Given the description of an element on the screen output the (x, y) to click on. 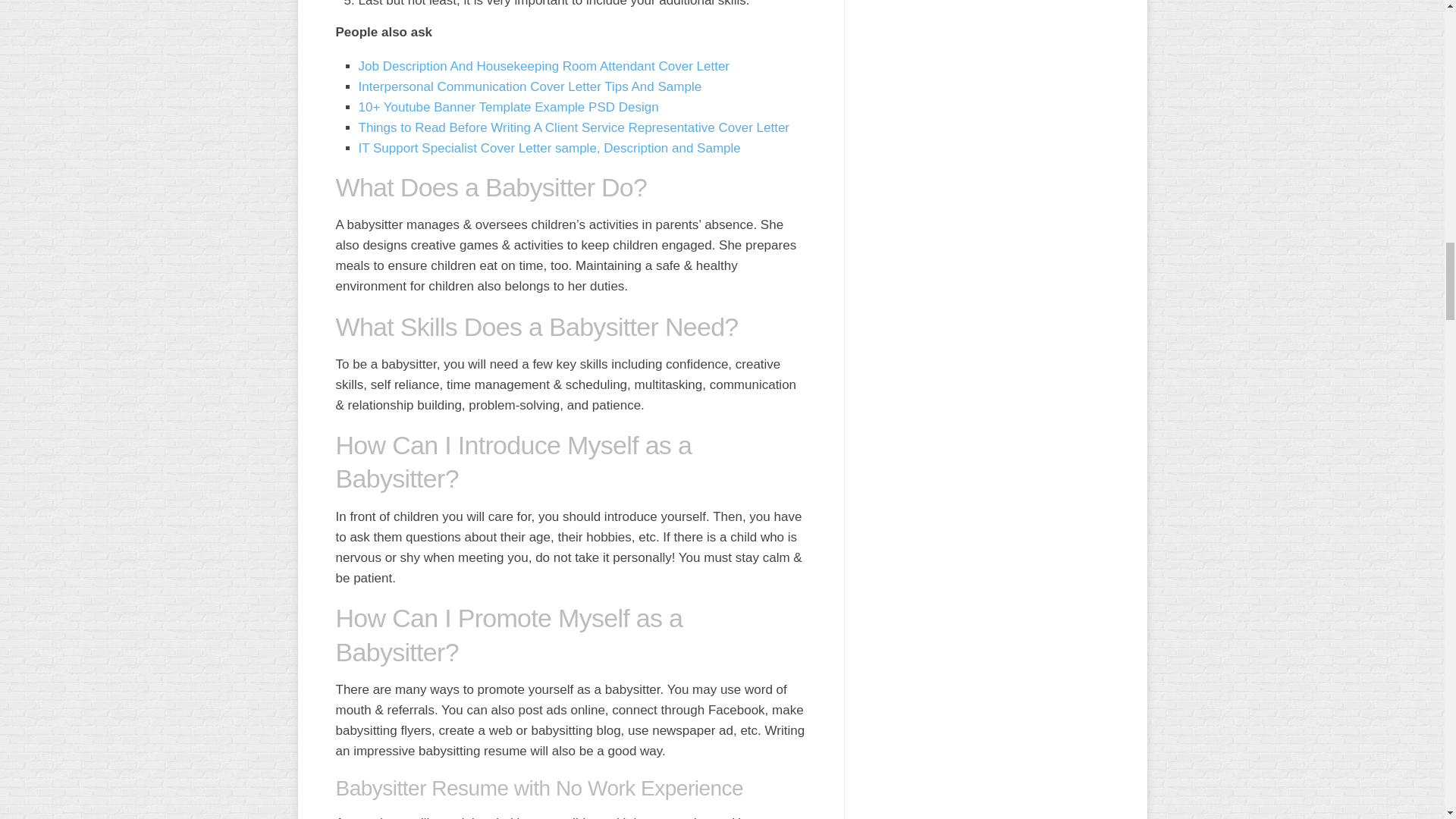
Job Description And Housekeeping Room Attendant Cover Letter (543, 65)
Interpersonal Communication Cover Letter Tips And Sample (529, 86)
